Given the description of an element on the screen output the (x, y) to click on. 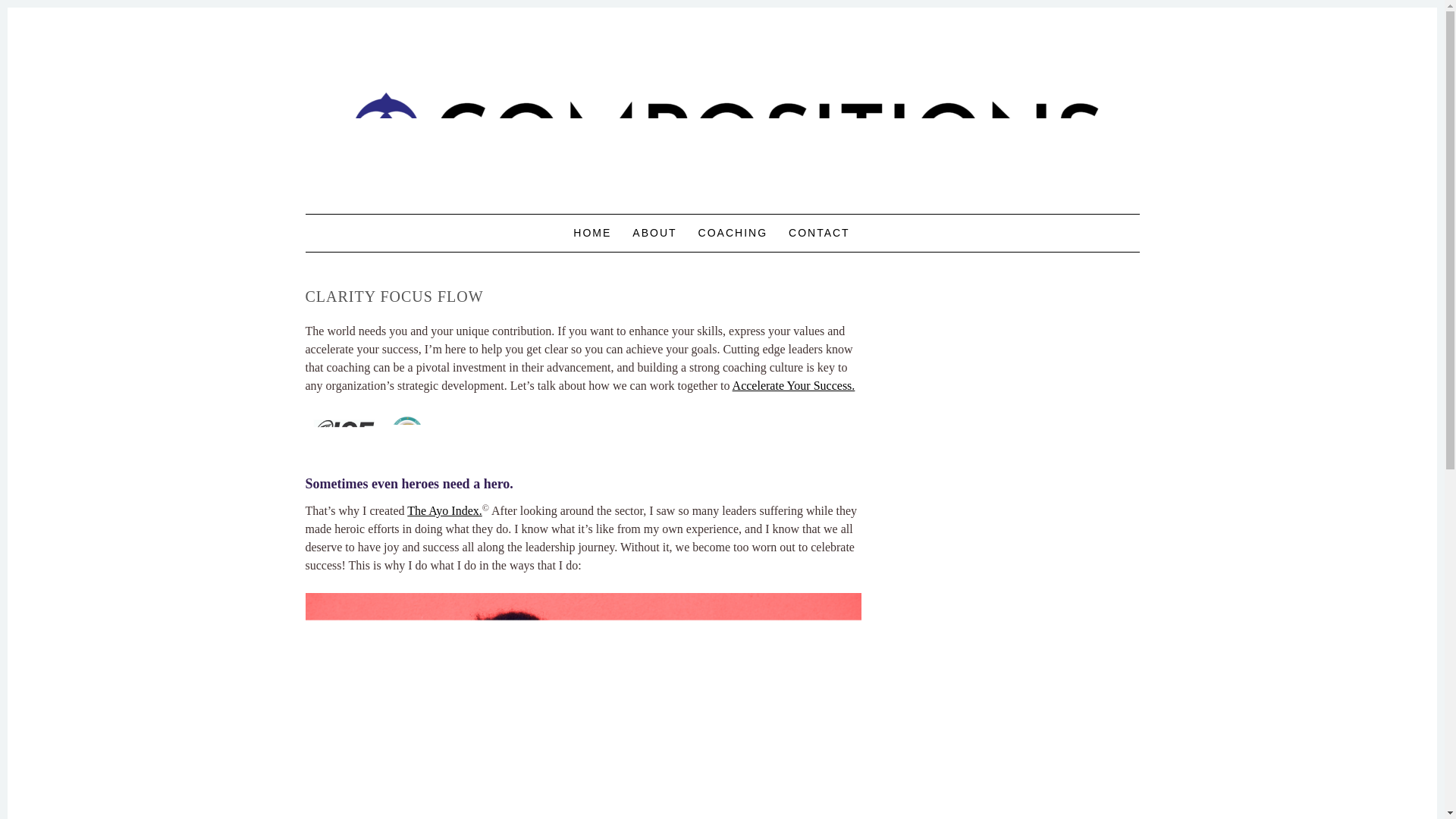
CONTACT (819, 232)
Accelerate Your Success. (794, 385)
HOME (592, 232)
The Ayo Index. (444, 510)
Search (26, 11)
Search for: (873, 233)
COACHING (732, 232)
ABOUT (654, 232)
